Given the description of an element on the screen output the (x, y) to click on. 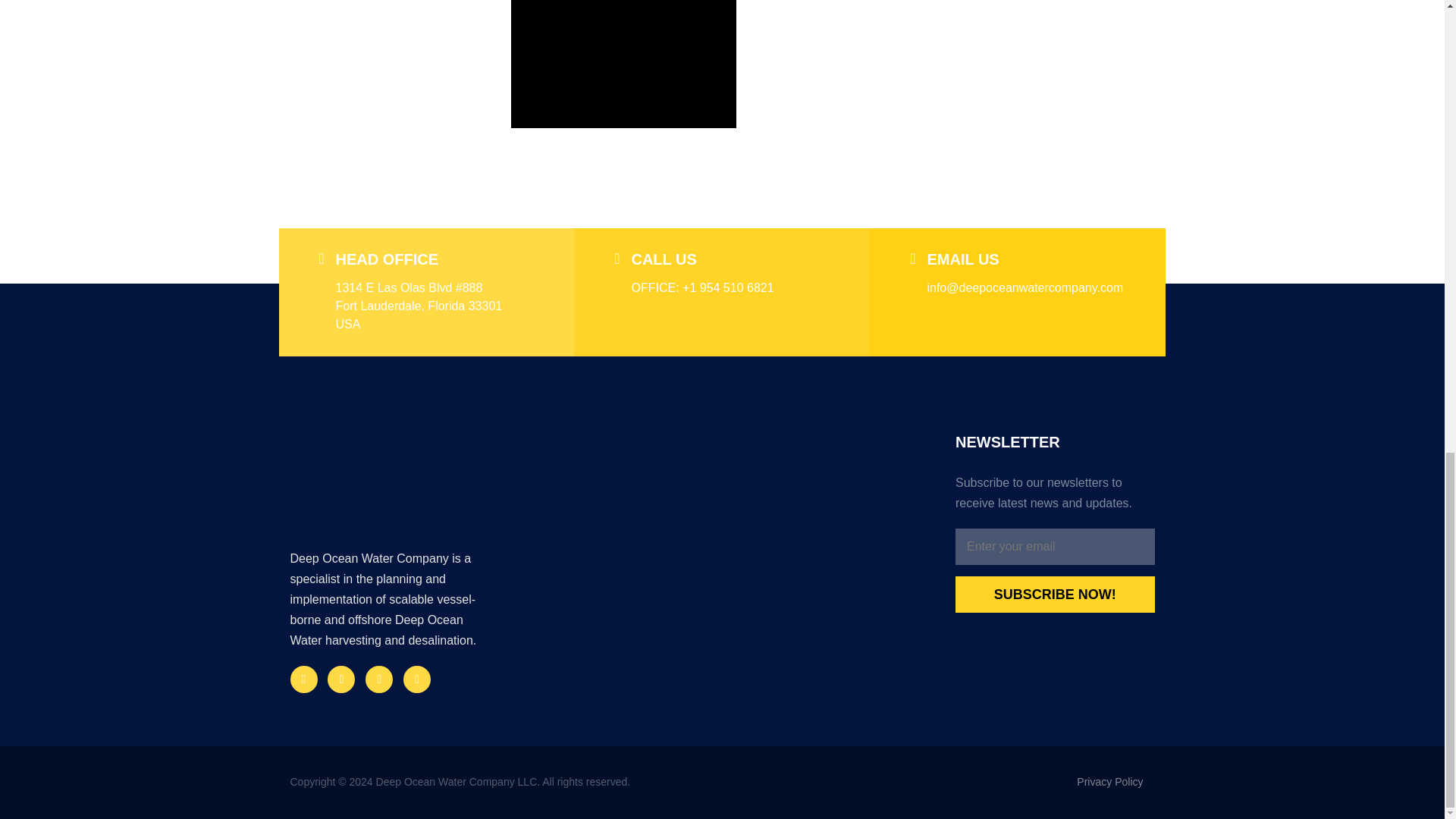
Privacy Policy (1115, 781)
SUBSCRIBE NOW! (1054, 594)
